Given the description of an element on the screen output the (x, y) to click on. 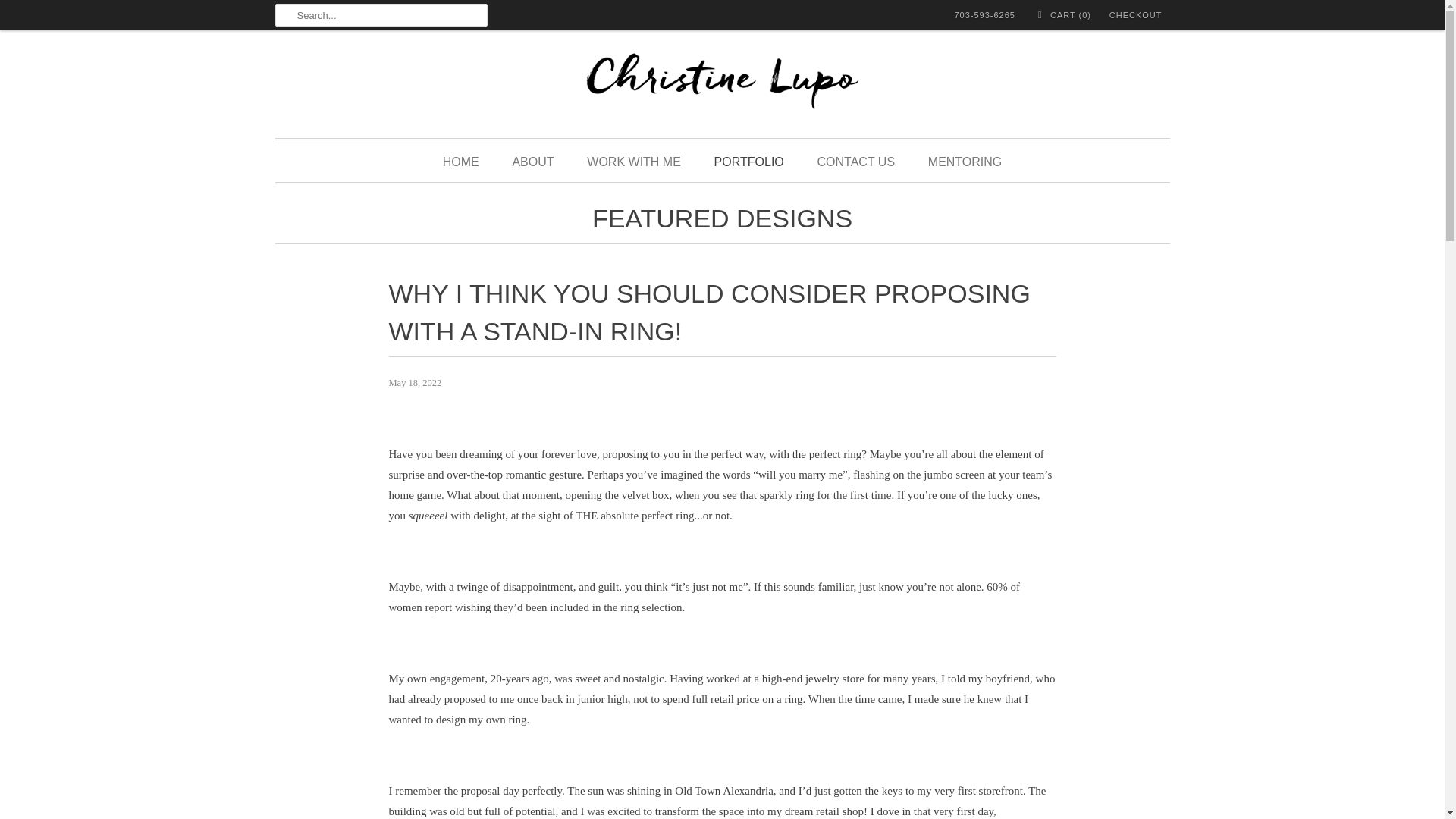
Christine Lupo (722, 87)
703-593-6265 (983, 15)
HOME (460, 162)
FEATURED DESIGNS (722, 221)
PORTFOLIO (749, 162)
ABOUT (532, 162)
CONTACT US (855, 162)
CHECKOUT (1135, 15)
Featured Designs (722, 221)
MENTORING (964, 162)
WORK WITH ME (633, 162)
